Given the description of an element on the screen output the (x, y) to click on. 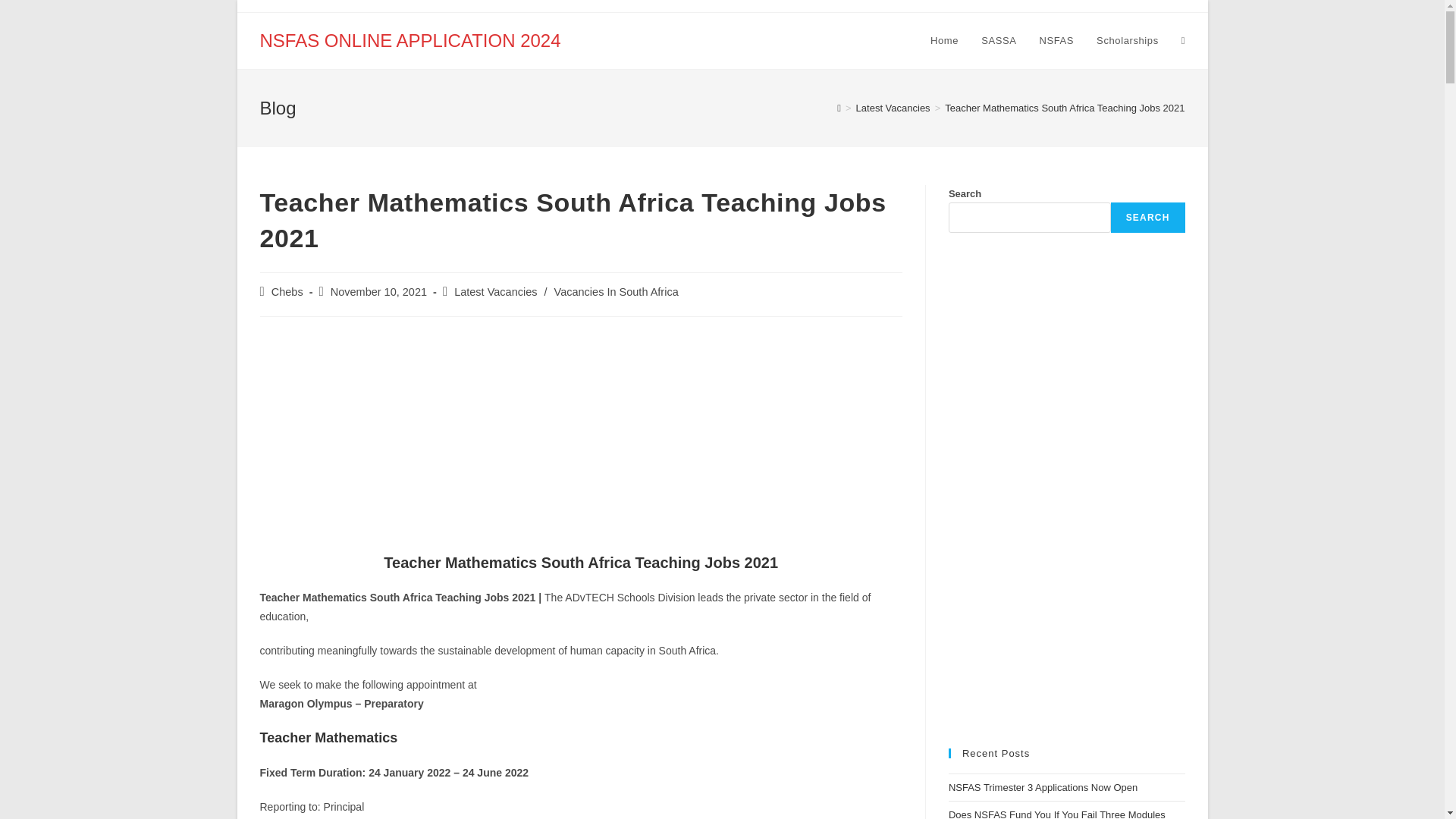
Chebs (286, 291)
SASSA (998, 40)
Advertisement (579, 438)
Latest Vacancies (495, 291)
Home (943, 40)
Posts by Chebs (286, 291)
Teacher Mathematics South Africa Teaching Jobs 2021 (1064, 107)
NSFAS ONLINE APPLICATION 2024 (409, 40)
Scholarships (1127, 40)
Latest Vacancies (893, 107)
